Given the description of an element on the screen output the (x, y) to click on. 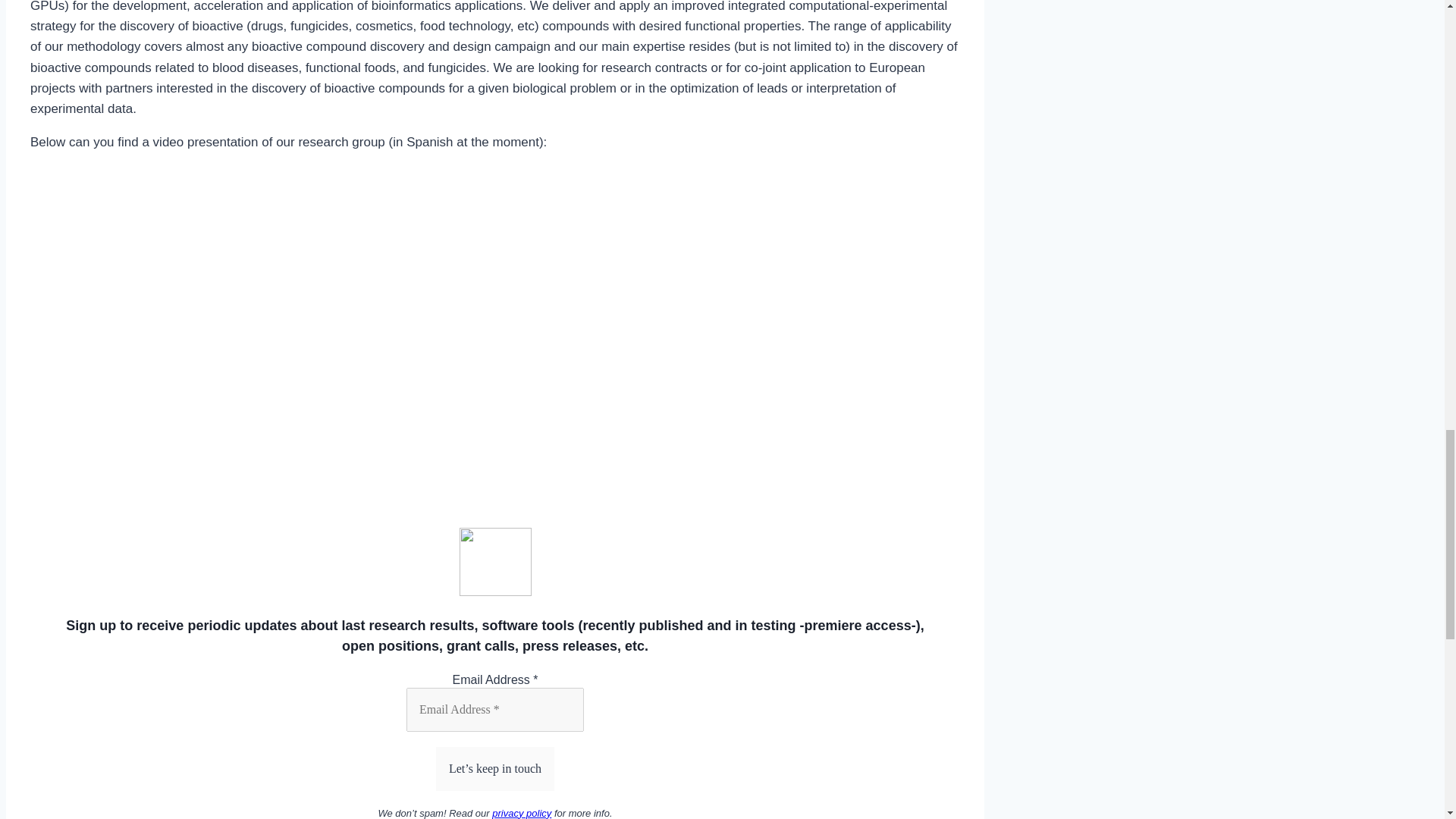
Email Address (494, 709)
